Given the description of an element on the screen output the (x, y) to click on. 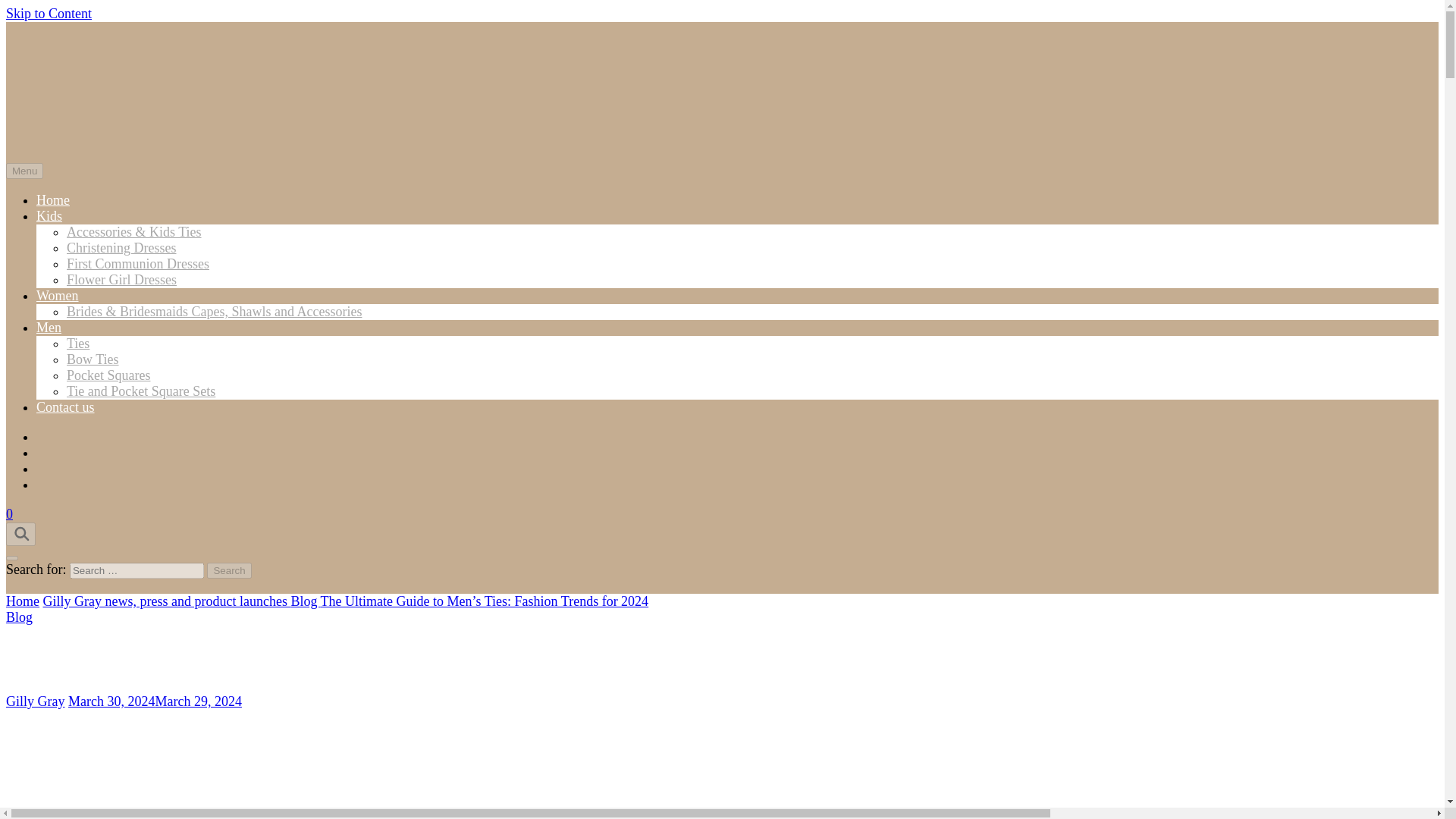
Tie and Pocket Square Sets (140, 391)
Gilly Gray news, press and product launches (165, 601)
Contact us (65, 406)
Search (228, 570)
Pocket Squares (107, 375)
Bow Ties (92, 359)
Skip to Content (48, 13)
March 30, 2024March 29, 2024 (154, 701)
Flower Girl Dresses (121, 279)
Ties (77, 343)
Blog (18, 616)
0 (9, 513)
Blog (304, 601)
Women (57, 295)
View your shopping cart (9, 513)
